Given the description of an element on the screen output the (x, y) to click on. 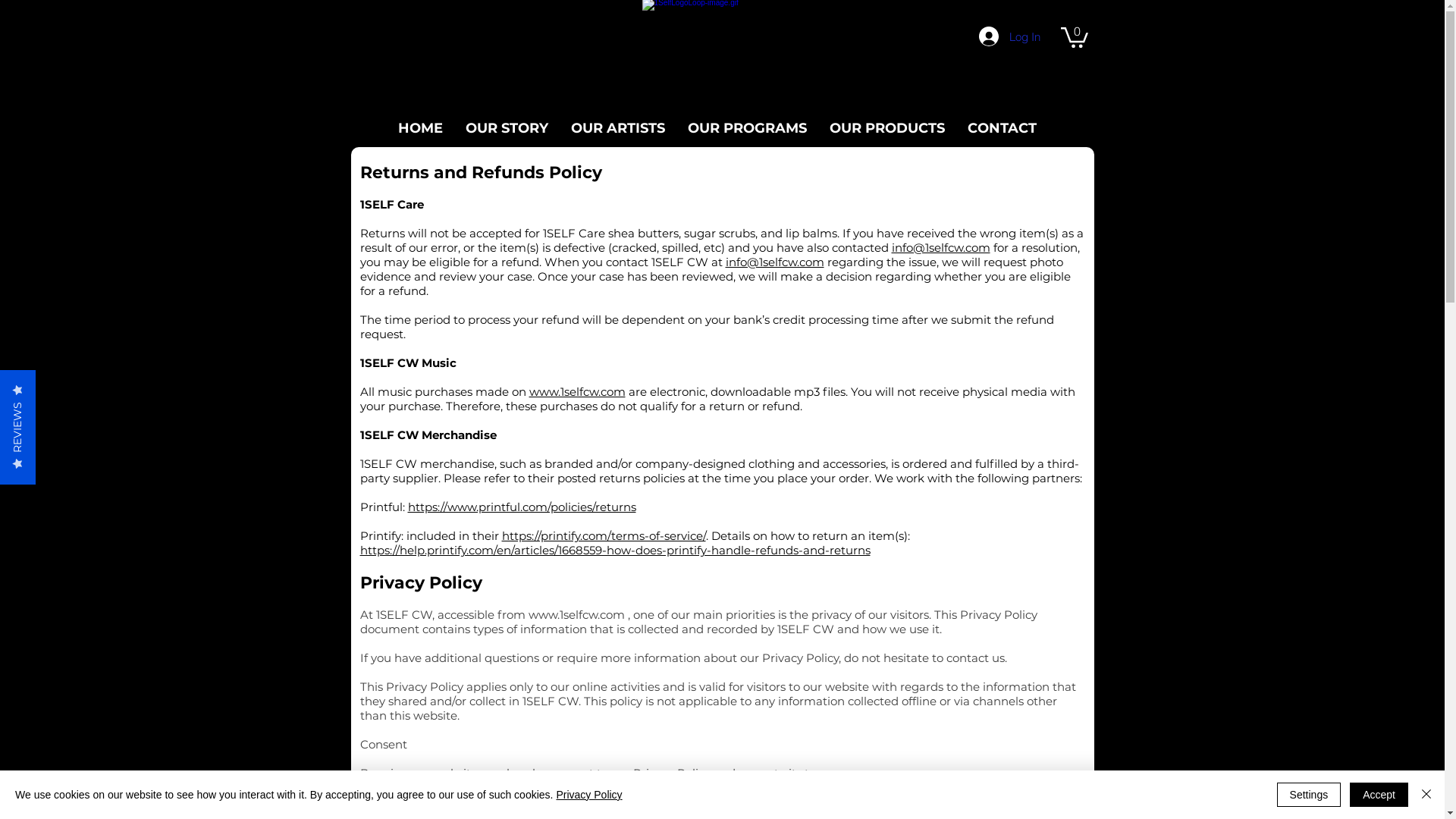
OUR STORY Element type: text (506, 128)
CONTACT Element type: text (1002, 128)
Accept Element type: text (1378, 794)
https://www.printful.com/policies/returns Element type: text (521, 506)
HOME Element type: text (420, 128)
Settings Element type: text (1309, 794)
 REVIEWS  Element type: text (57, 387)
OUR PRODUCTS Element type: text (887, 128)
0 Element type: text (1073, 36)
www.1selfcw.com Element type: text (577, 391)
info@1selfcw.com Element type: text (940, 247)
www.1selfcw.com Element type: text (575, 614)
Privacy Policy Element type: text (588, 794)
https://printify.com/terms-of-service/ Element type: text (604, 535)
Log In Element type: text (1008, 35)
info@1selfcw.com Element type: text (773, 261)
